Given the description of an element on the screen output the (x, y) to click on. 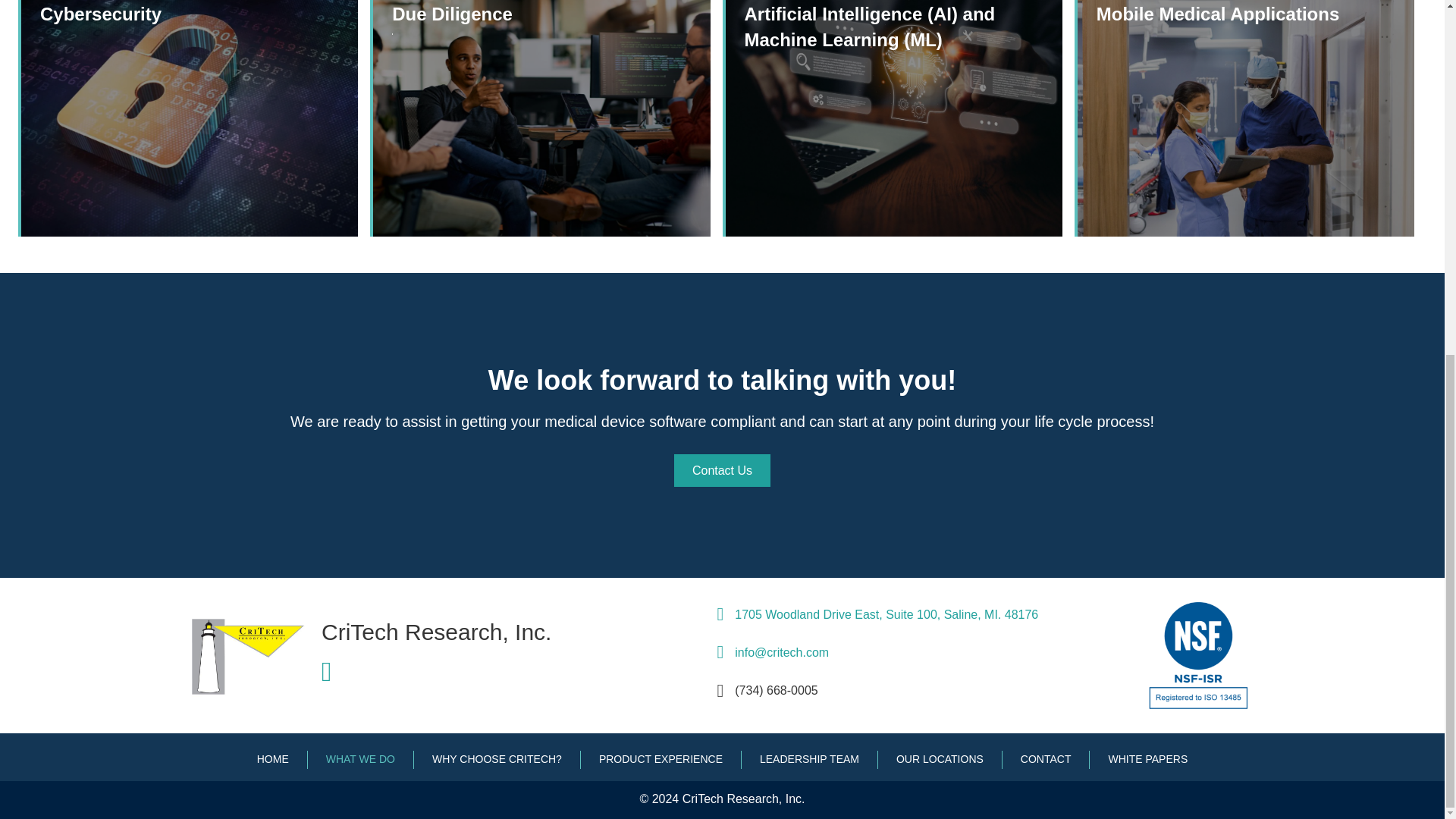
Picture1 (1198, 655)
CriTech Research, Inc. (436, 631)
logo (255, 659)
